Given the description of an element on the screen output the (x, y) to click on. 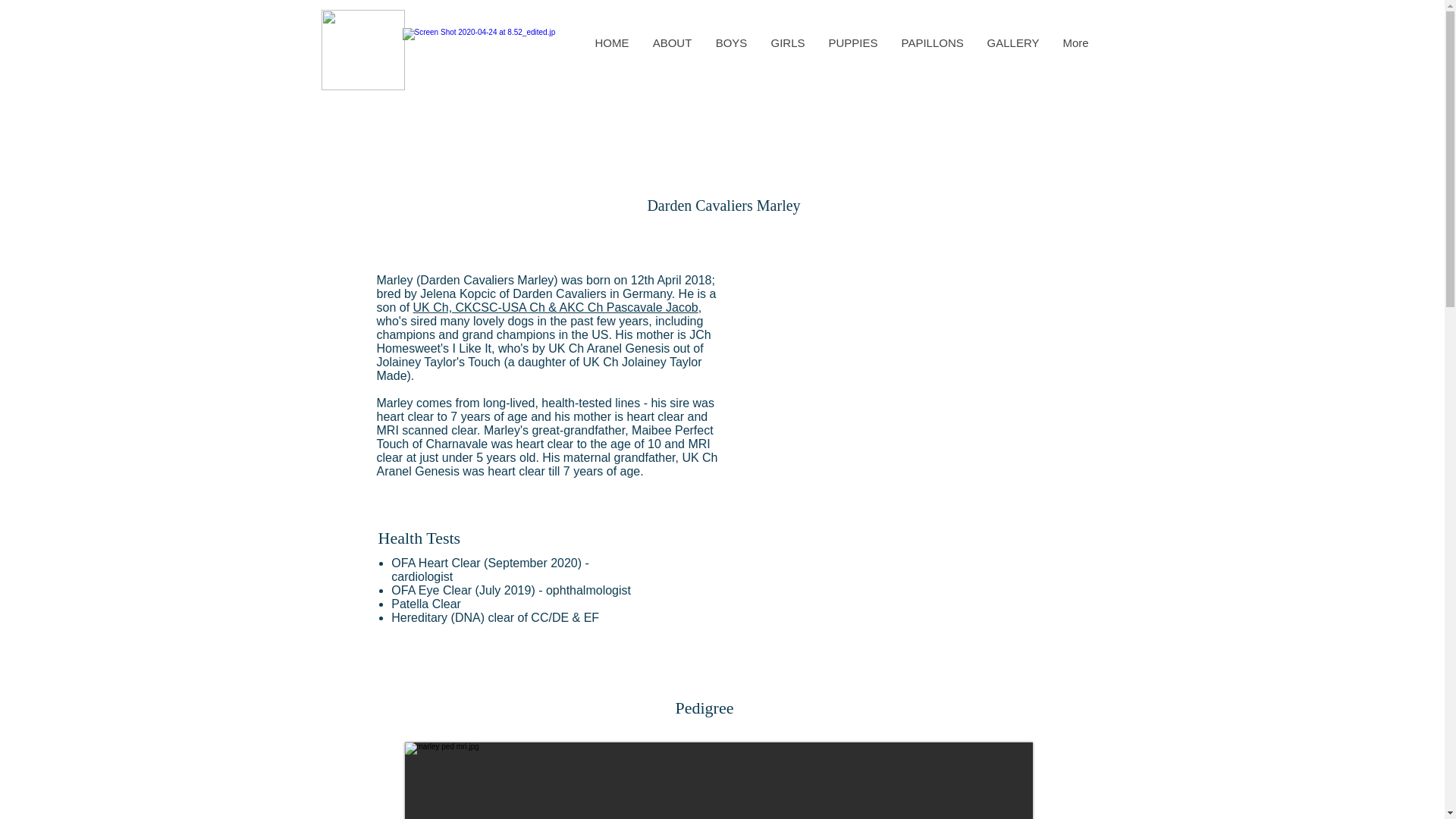
BOYS (730, 42)
PUPPIES (851, 42)
HOME (611, 42)
ABOUT (671, 42)
GIRLS (786, 42)
GALLERY (1013, 42)
PAPILLONS (931, 42)
